Given the description of an element on the screen output the (x, y) to click on. 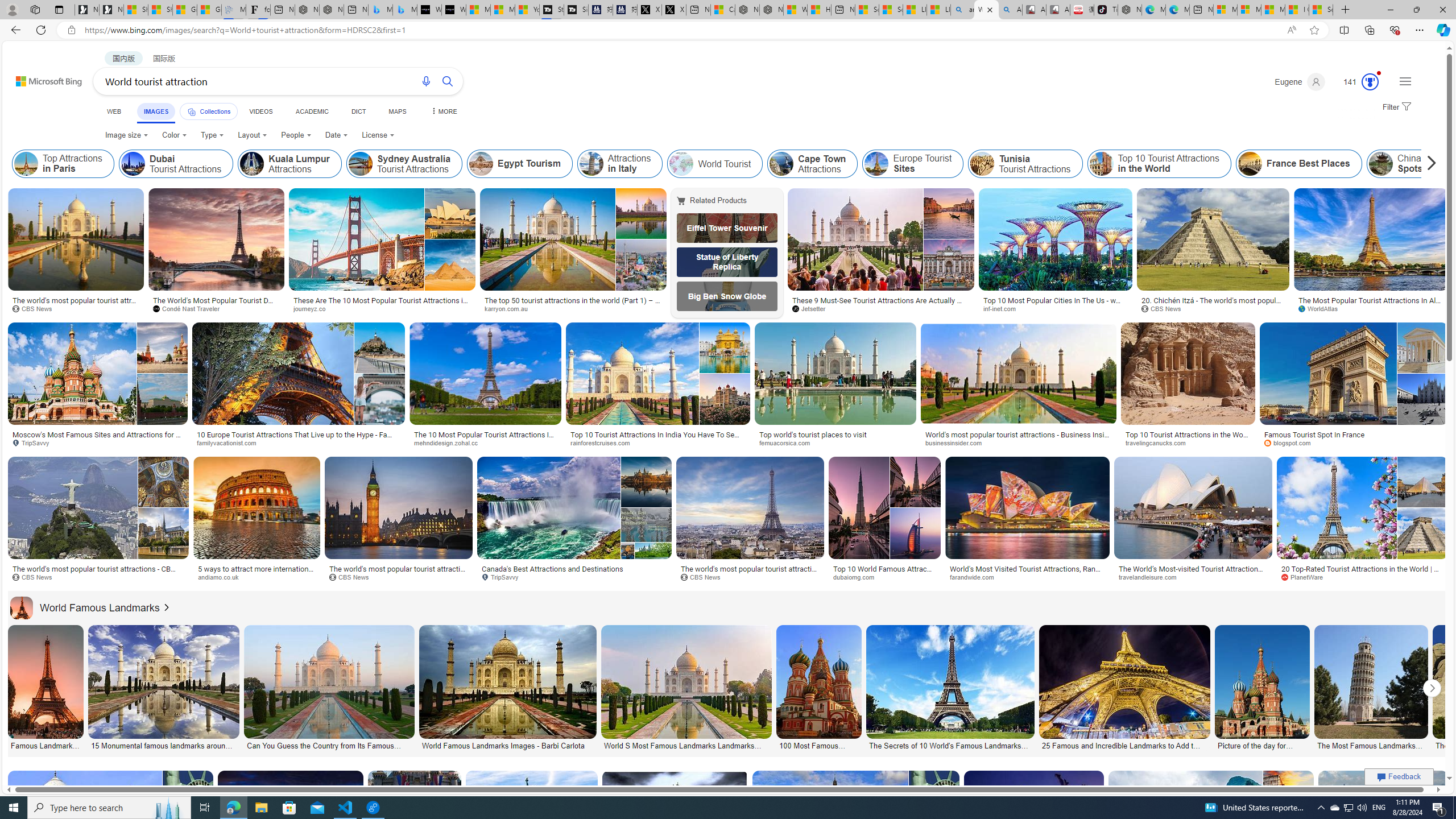
ACADEMIC (311, 111)
Top 10 Most Popular Cities In The Us - www.inf-inet.com (1055, 303)
Egypt Tourism (480, 163)
TripSavvy (504, 576)
WorldAtlas (1321, 308)
travelandleisure.com (1193, 576)
